Given the description of an element on the screen output the (x, y) to click on. 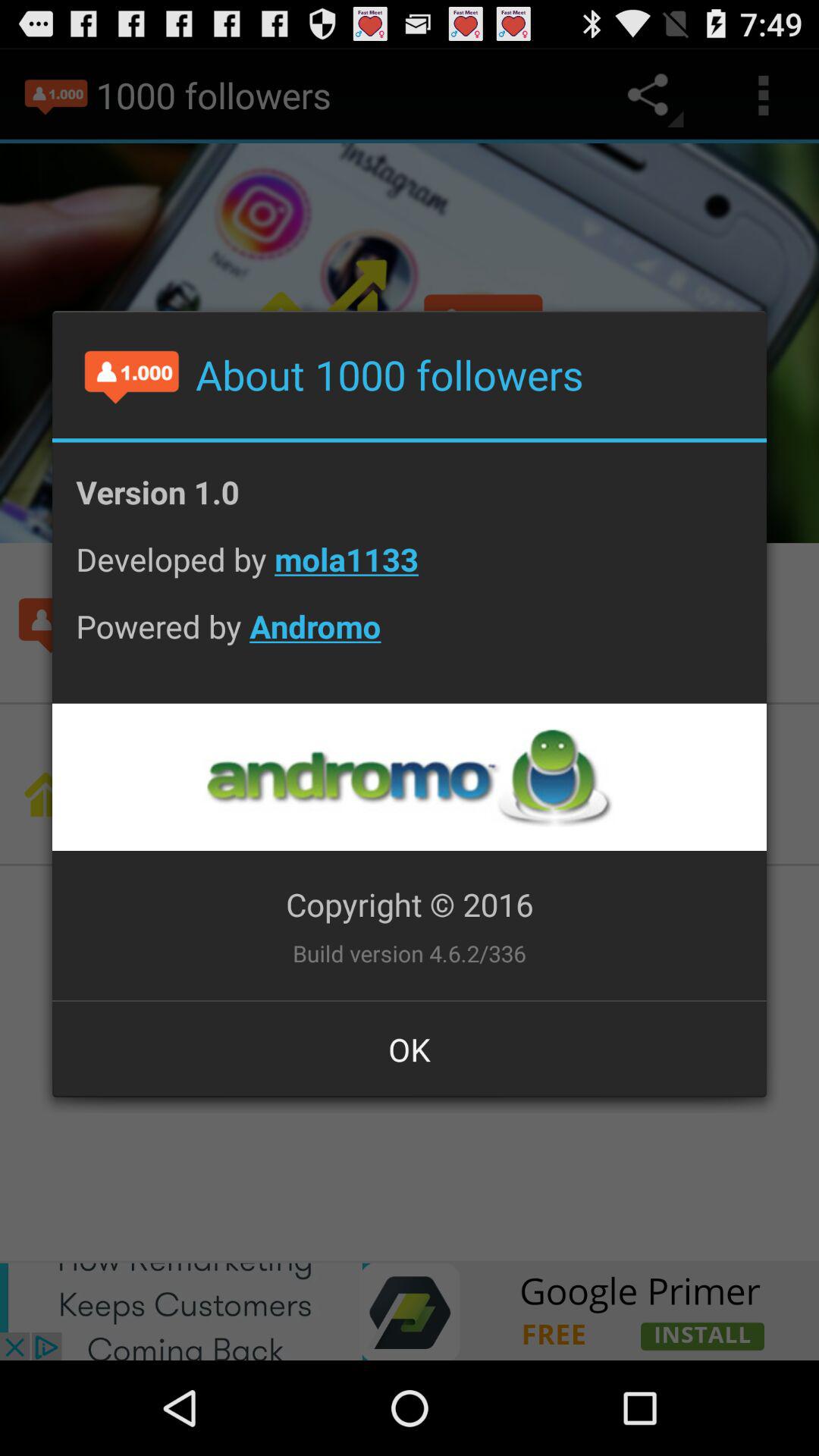
swipe until the developed by mola1133 item (409, 570)
